Given the description of an element on the screen output the (x, y) to click on. 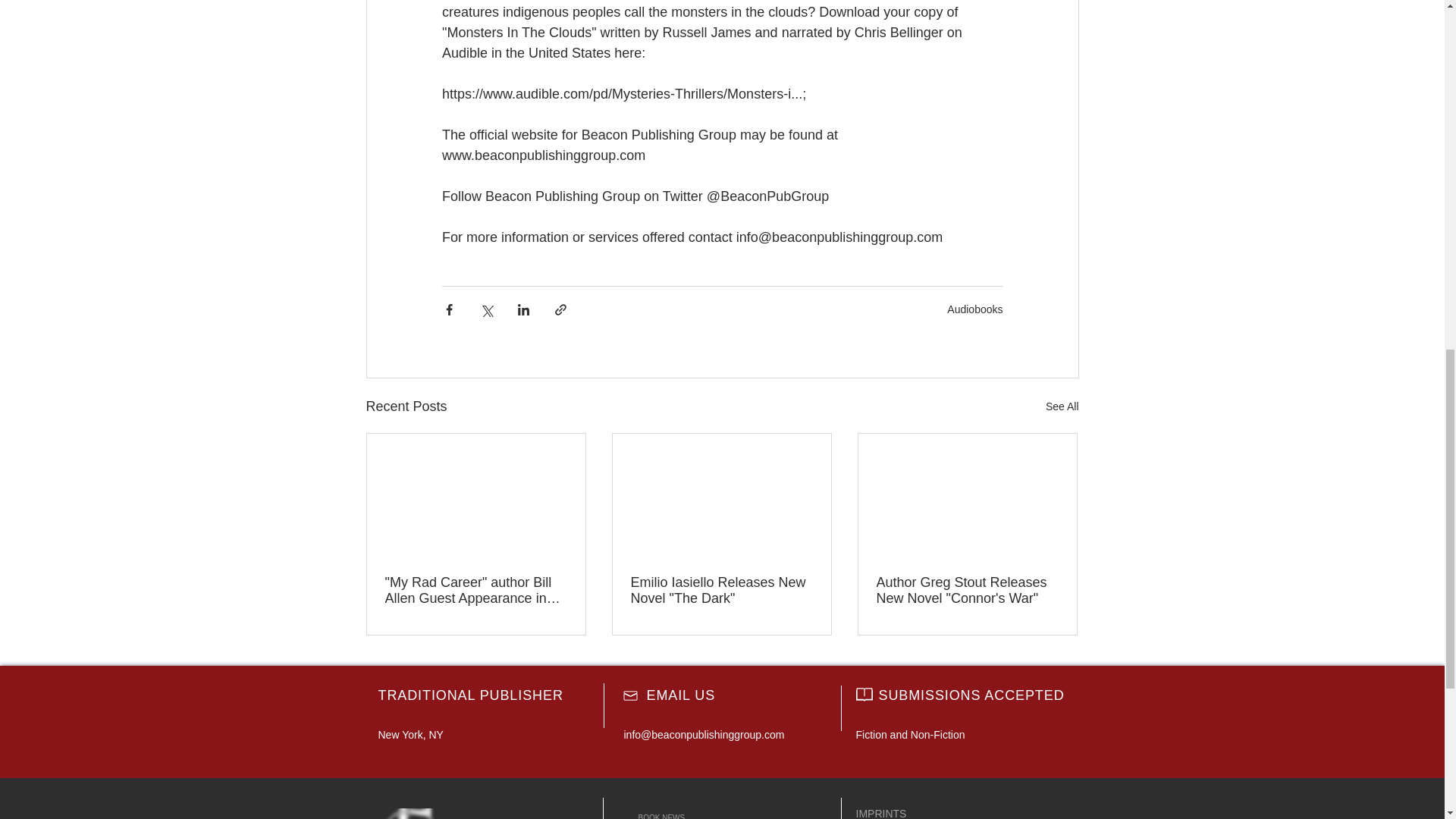
See All (1061, 406)
Author Greg Stout Releases New Novel "Connor's War" (967, 590)
Audiobooks (975, 309)
Emilio Iasiello Releases New Novel "The Dark" (721, 590)
